Given the description of an element on the screen output the (x, y) to click on. 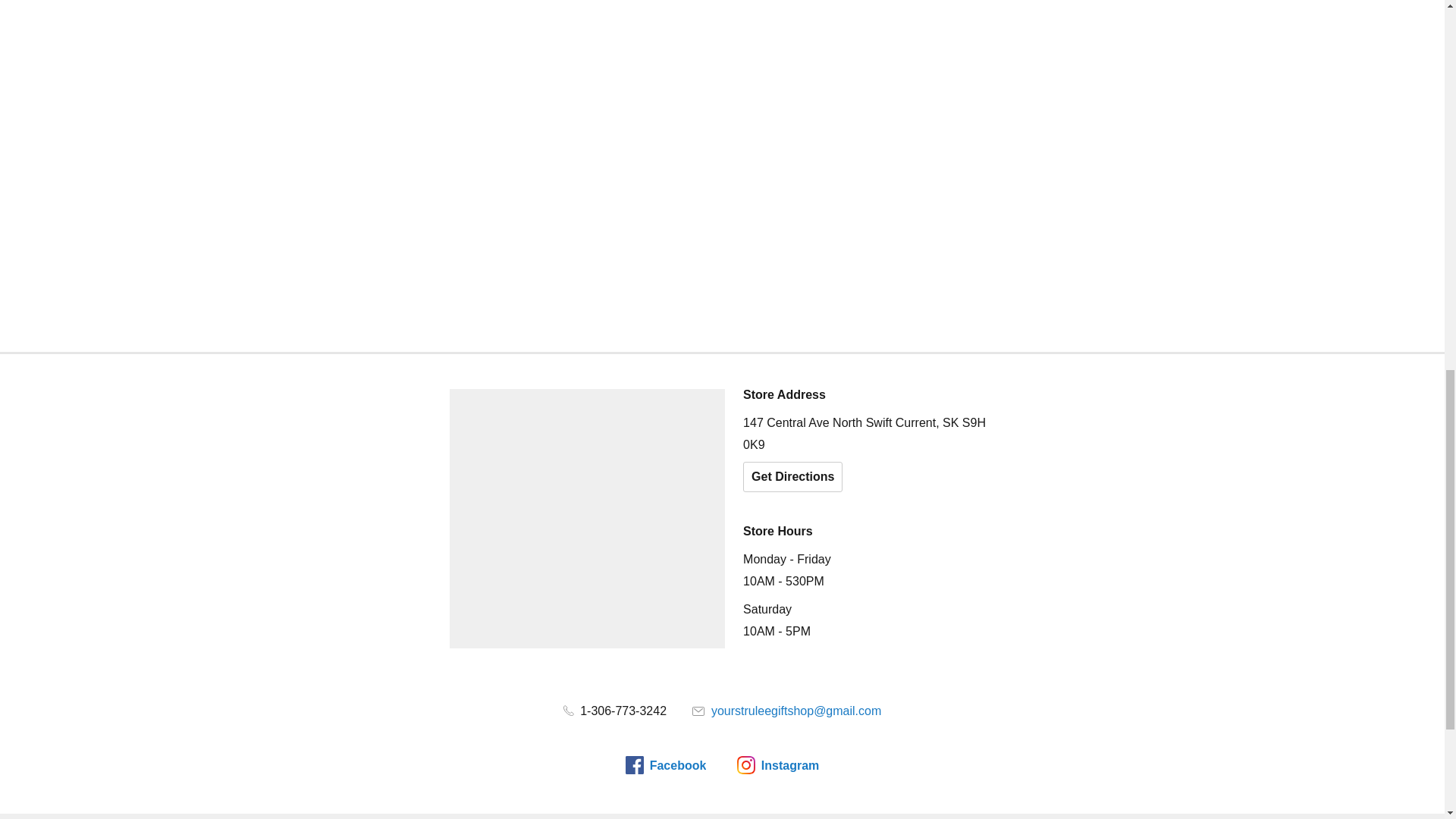
Get Directions (792, 476)
Facebook (666, 764)
Location on map (586, 518)
Instagram (777, 764)
1-306-773-3242 (614, 710)
